Given the description of an element on the screen output the (x, y) to click on. 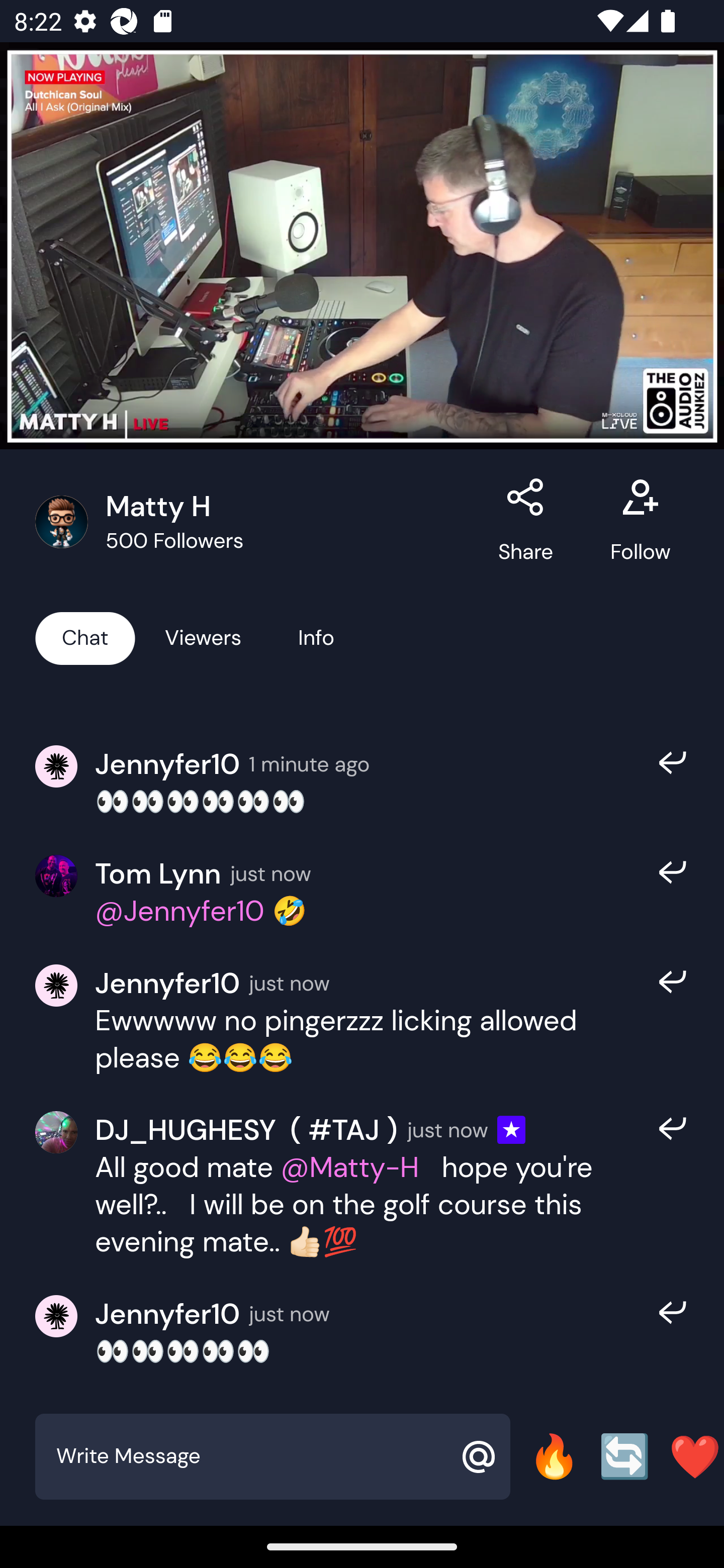
Matty H, 500 Followers Matty H 500 Followers (256, 521)
Share (525, 521)
Follow (640, 521)
Chat (84, 636)
Viewers (203, 636)
Info (316, 636)
Jennyfer10 (166, 763)
Tom Lynn (157, 873)
Jennyfer10 (166, 982)
DJ_HUGHESY  ( #TAJ ) (246, 1129)
Jennyfer10 (166, 1313)
Write Message (250, 1456)
🔥 (553, 1456)
🔄 (624, 1456)
❤️ (694, 1456)
